Given the description of an element on the screen output the (x, y) to click on. 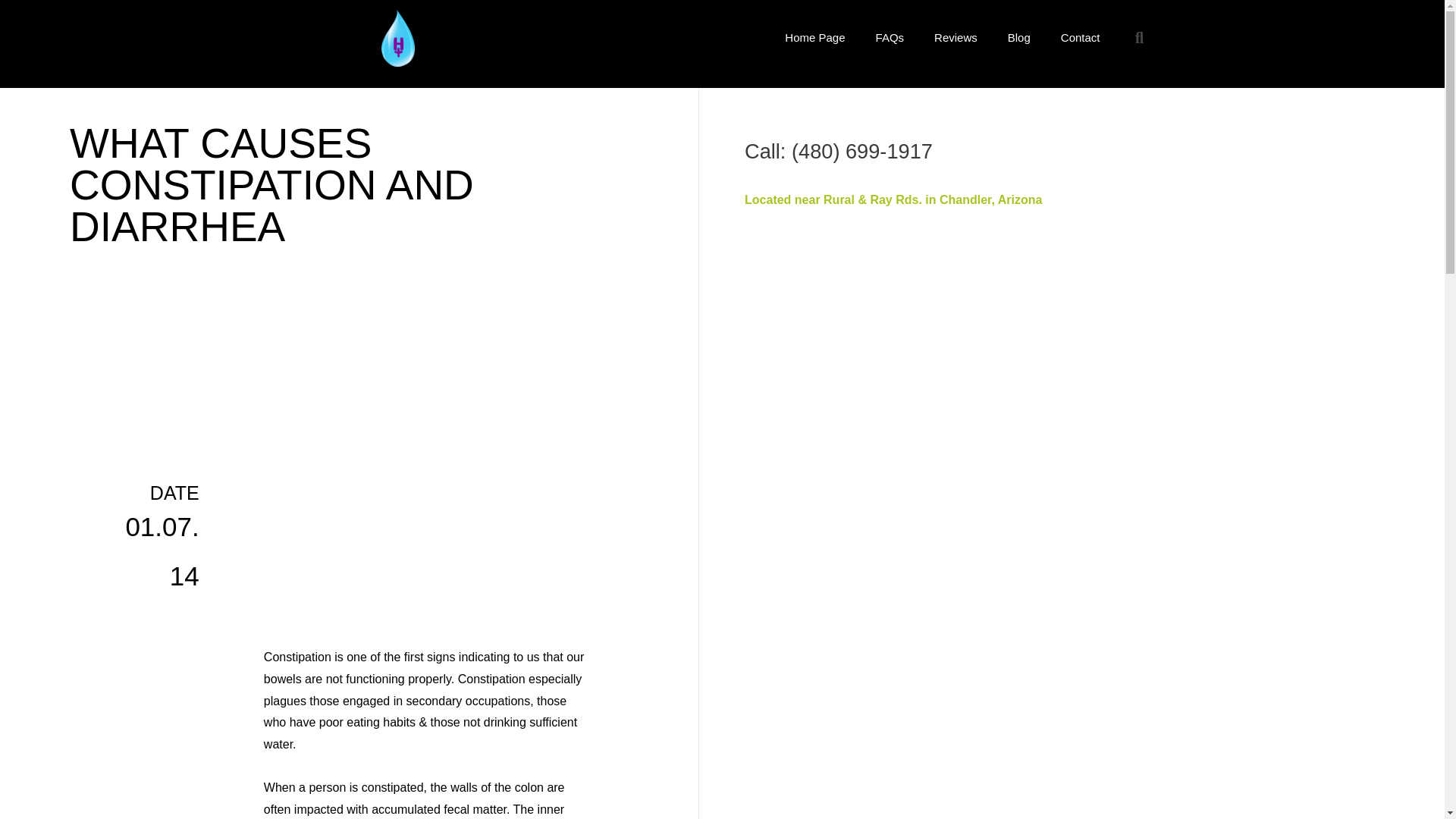
Home Page (815, 38)
Reviews (955, 38)
Contact (1080, 38)
